Given the description of an element on the screen output the (x, y) to click on. 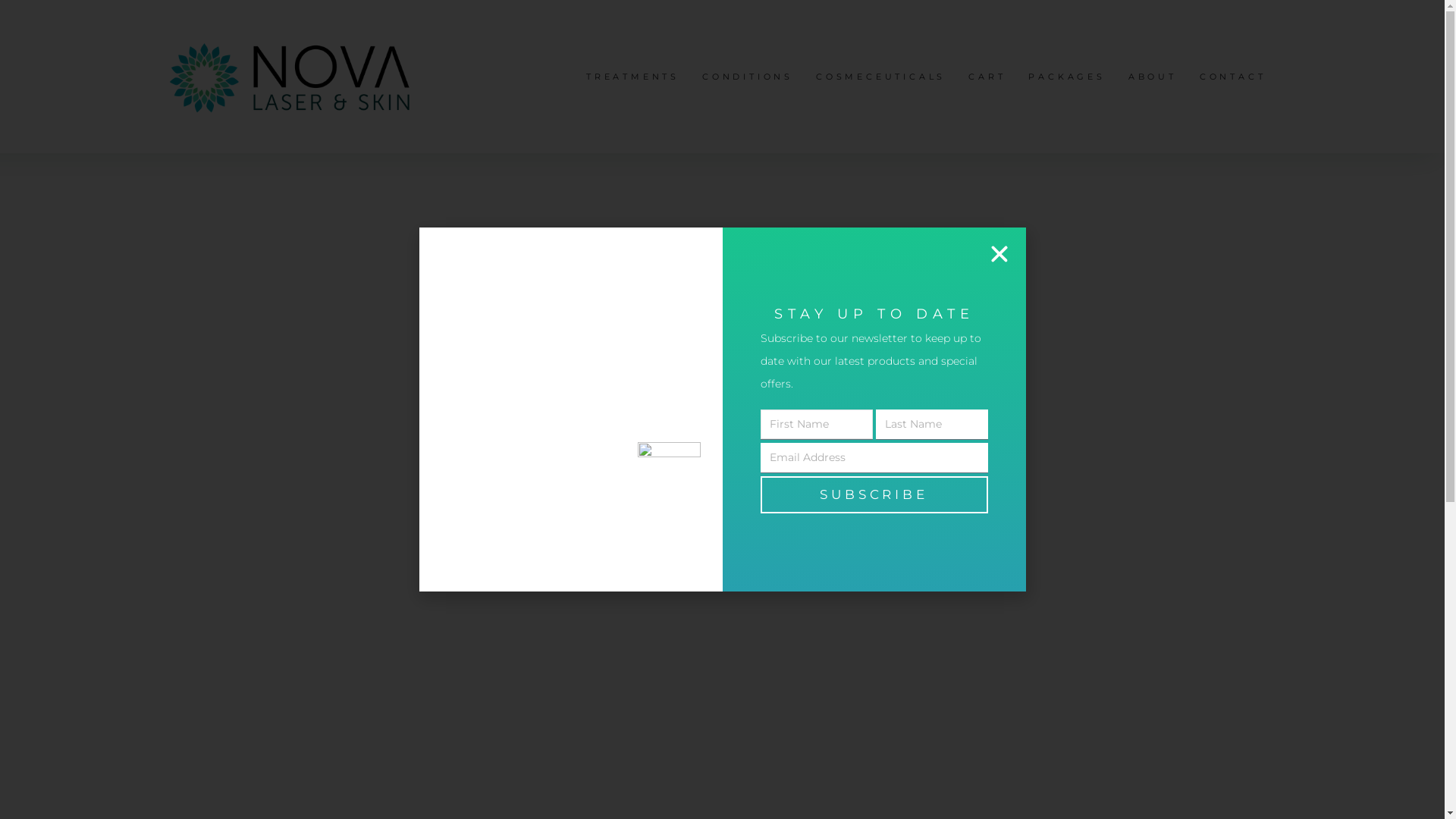
TripleTreatPlus_BeautyBlender_Black Element type: hover (500, 534)
ASAP - Packs Element type: text (867, 398)
ABOUT Element type: text (1152, 77)
CONDITIONS Element type: text (747, 77)
PACKAGES Element type: text (1066, 77)
SUBSCRIBE Element type: text (873, 494)
COSMECEUTICALS Element type: text (880, 77)
CONTACT Element type: text (1232, 77)
CART Element type: text (986, 77)
ASAP Element type: text (812, 398)
TREATMENTS Element type: text (632, 77)
